Given the description of an element on the screen output the (x, y) to click on. 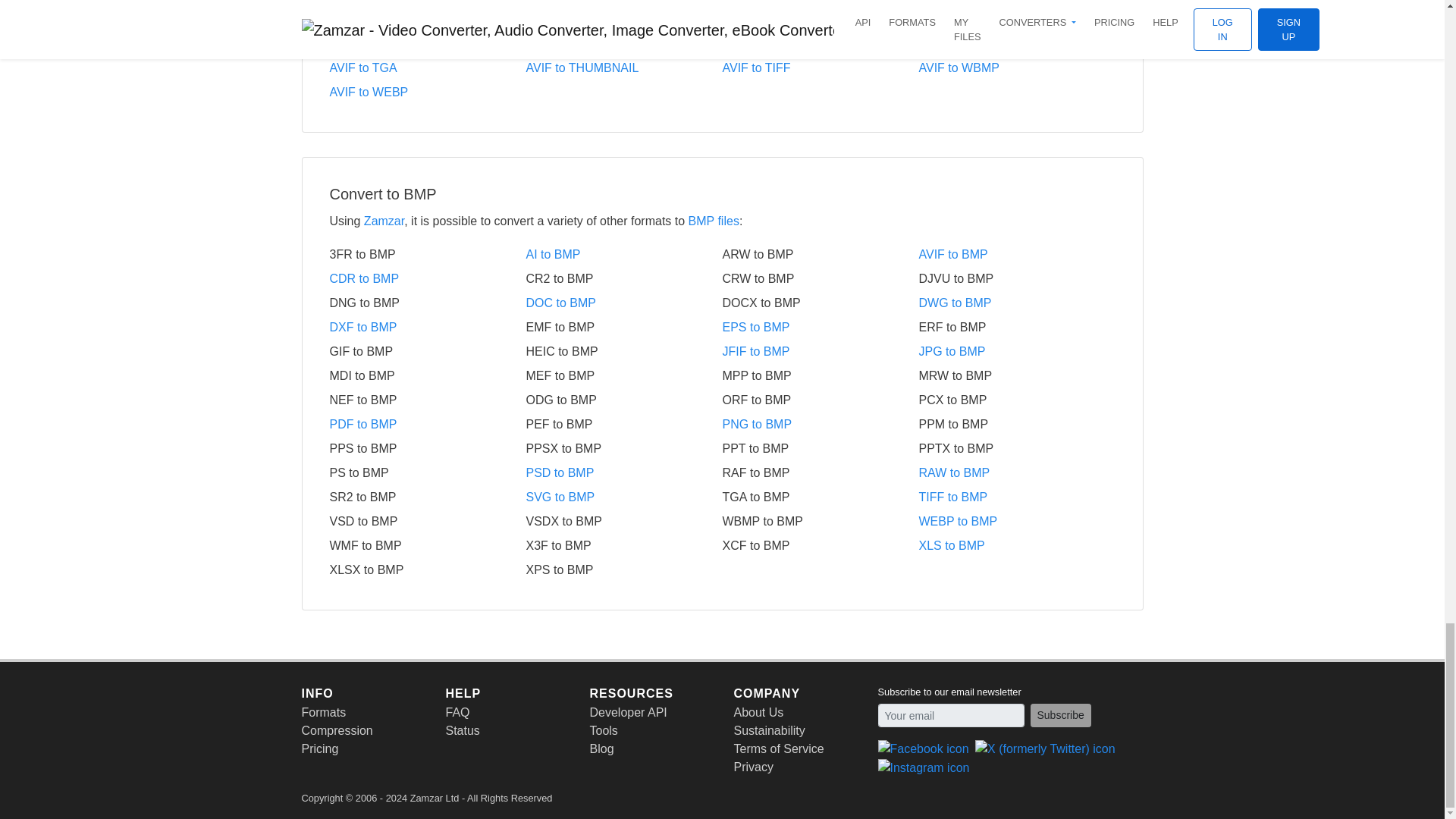
AVIF to JPG Converter (1016, 19)
AVIF to GIF Converter (623, 19)
AVIF to ICO Converter (820, 19)
AVIF to PCX Converter (427, 43)
AVIF to BMP Converter (427, 19)
